Given the description of an element on the screen output the (x, y) to click on. 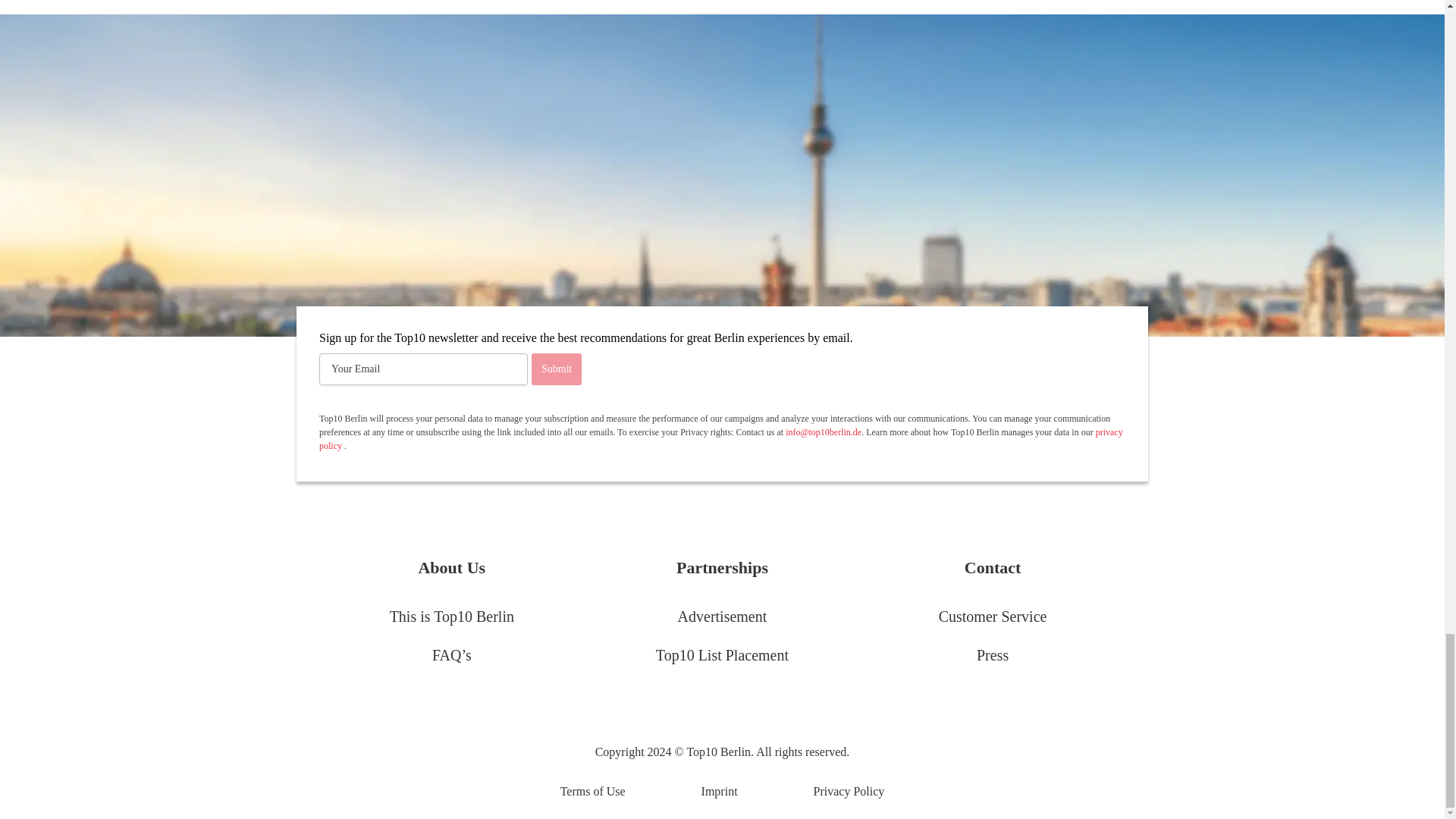
Submit (555, 368)
